Given the description of an element on the screen output the (x, y) to click on. 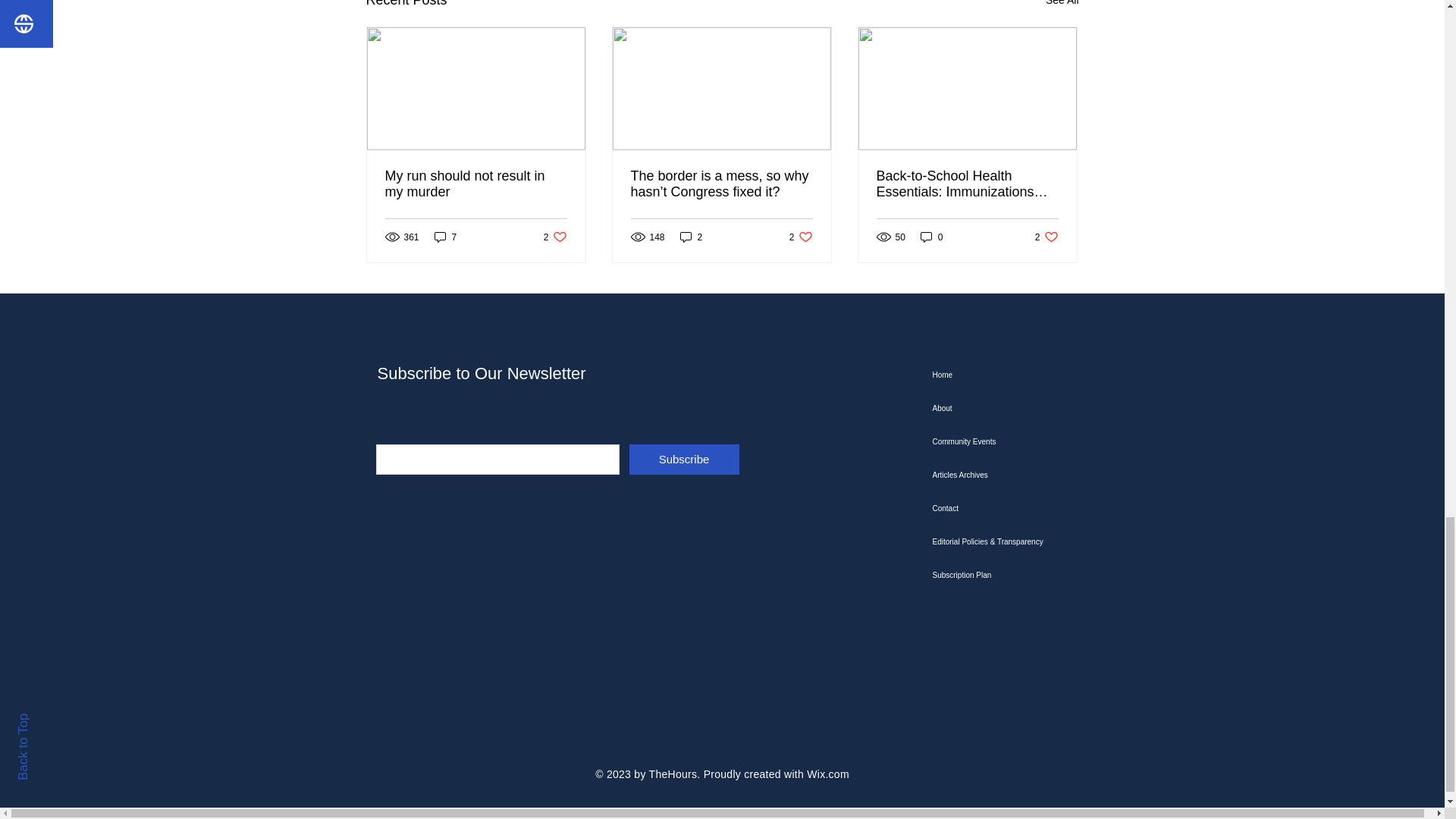
See All (1061, 5)
My run should not result in my murder (476, 183)
